Given the description of an element on the screen output the (x, y) to click on. 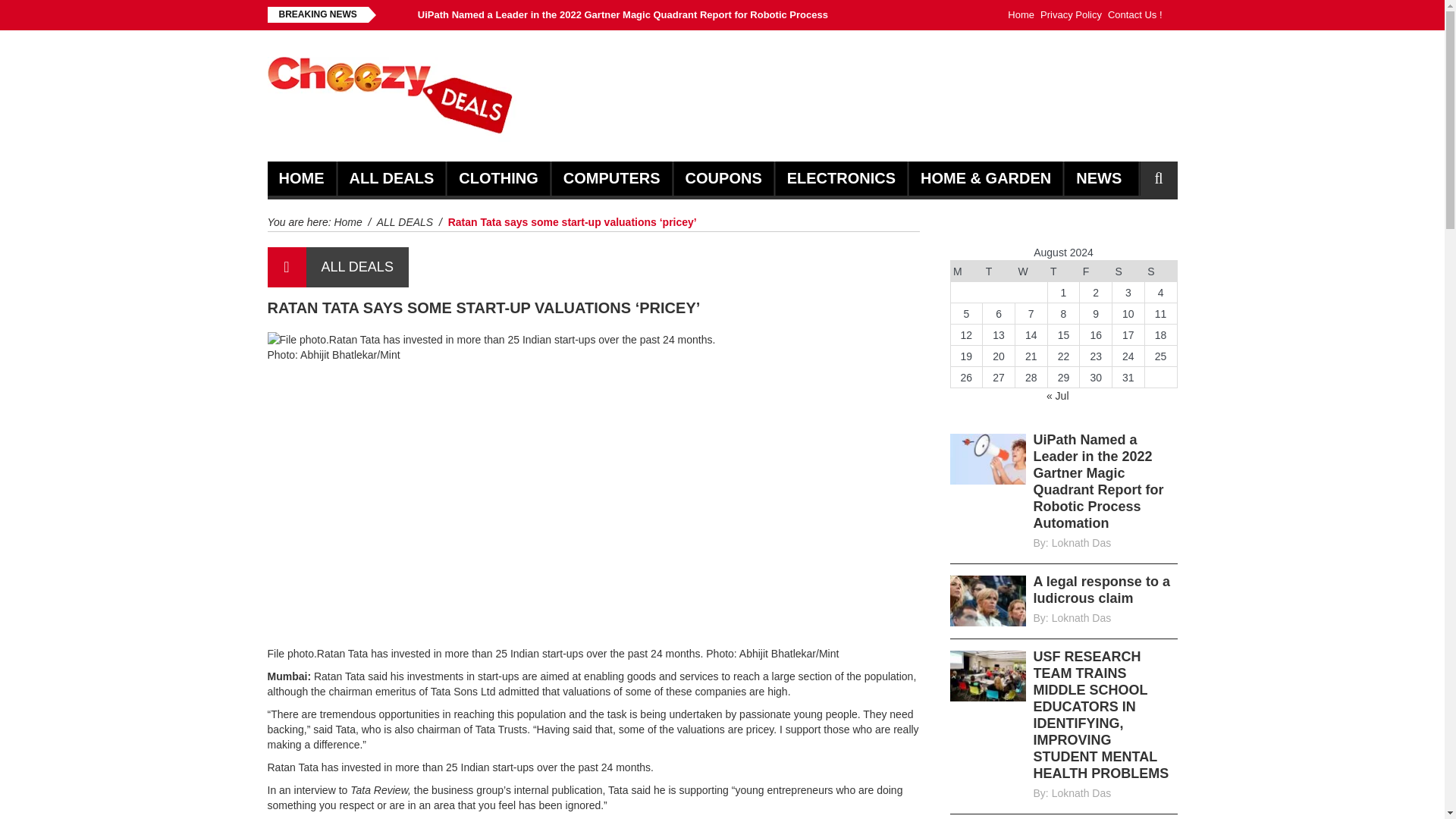
ALL DEALS (357, 267)
ALL DEALS (404, 222)
COUPONS (723, 178)
Friday (1096, 271)
Wednesday (1030, 271)
Saturday (1128, 271)
Home (347, 222)
Posts by Loknath Das (1081, 793)
COMPUTERS (612, 178)
